Given the description of an element on the screen output the (x, y) to click on. 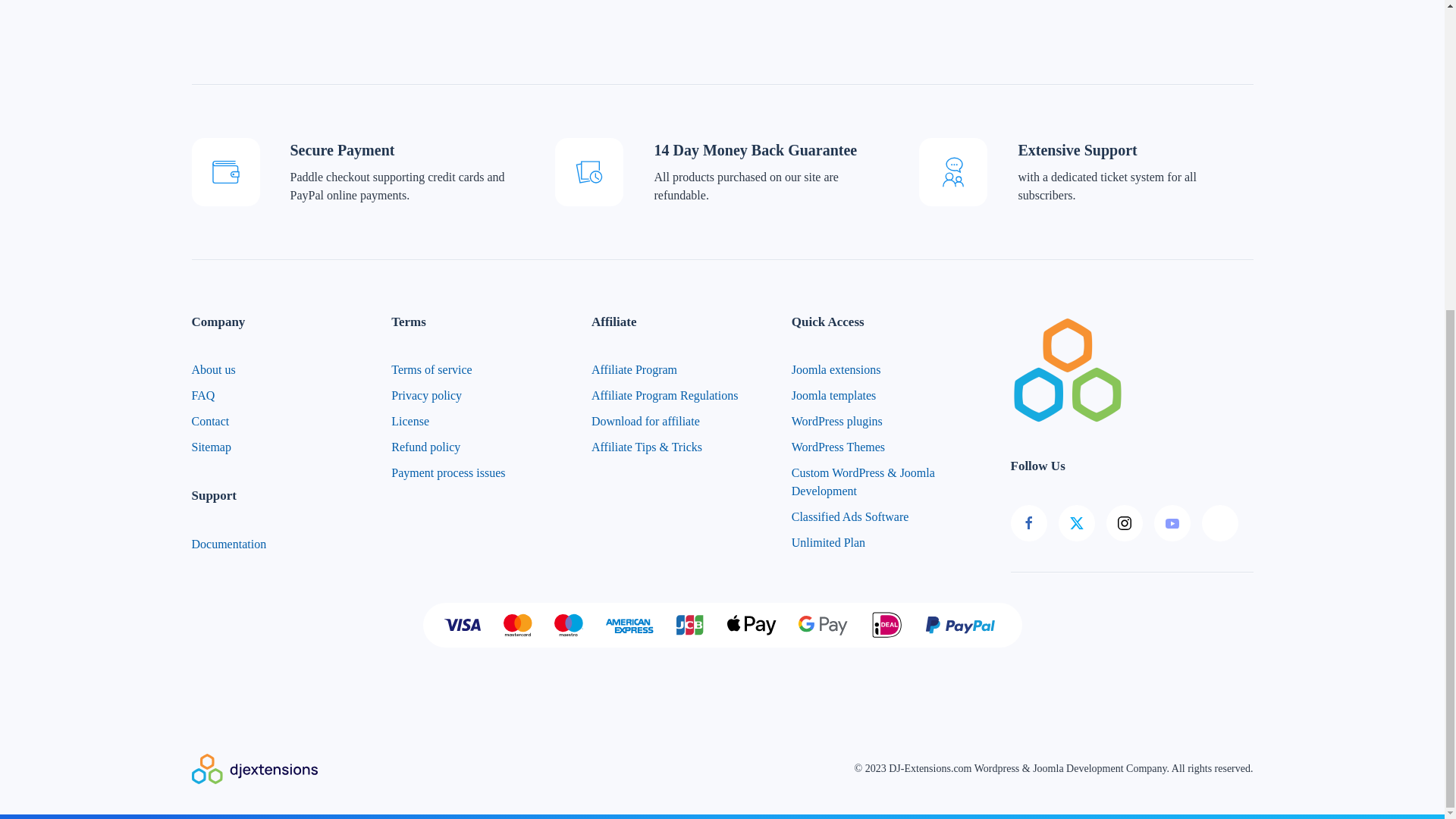
social link (1131, 523)
